Given the description of an element on the screen output the (x, y) to click on. 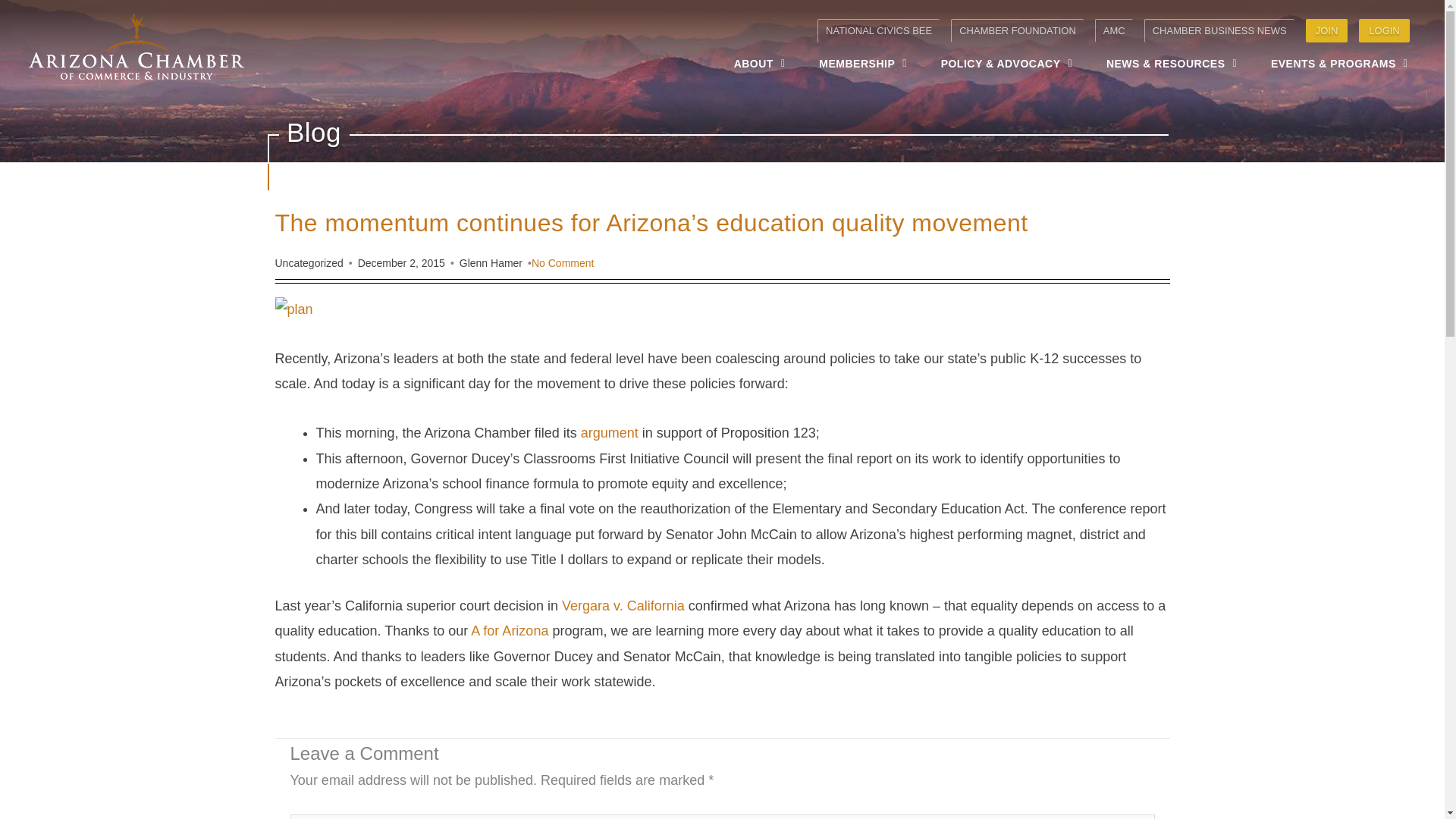
NATIONAL CIVICS BEE (877, 30)
View All posts by Glenn Hamer (491, 263)
10:12 PM (401, 263)
ABOUT (759, 63)
AMC (1113, 30)
LOGIN (1383, 30)
JOIN (1327, 30)
CHAMBER BUSINESS NEWS (1219, 30)
10:12 PM (401, 263)
MEMBERSHIP (862, 63)
CHAMBER FOUNDATION (1016, 30)
